Given the description of an element on the screen output the (x, y) to click on. 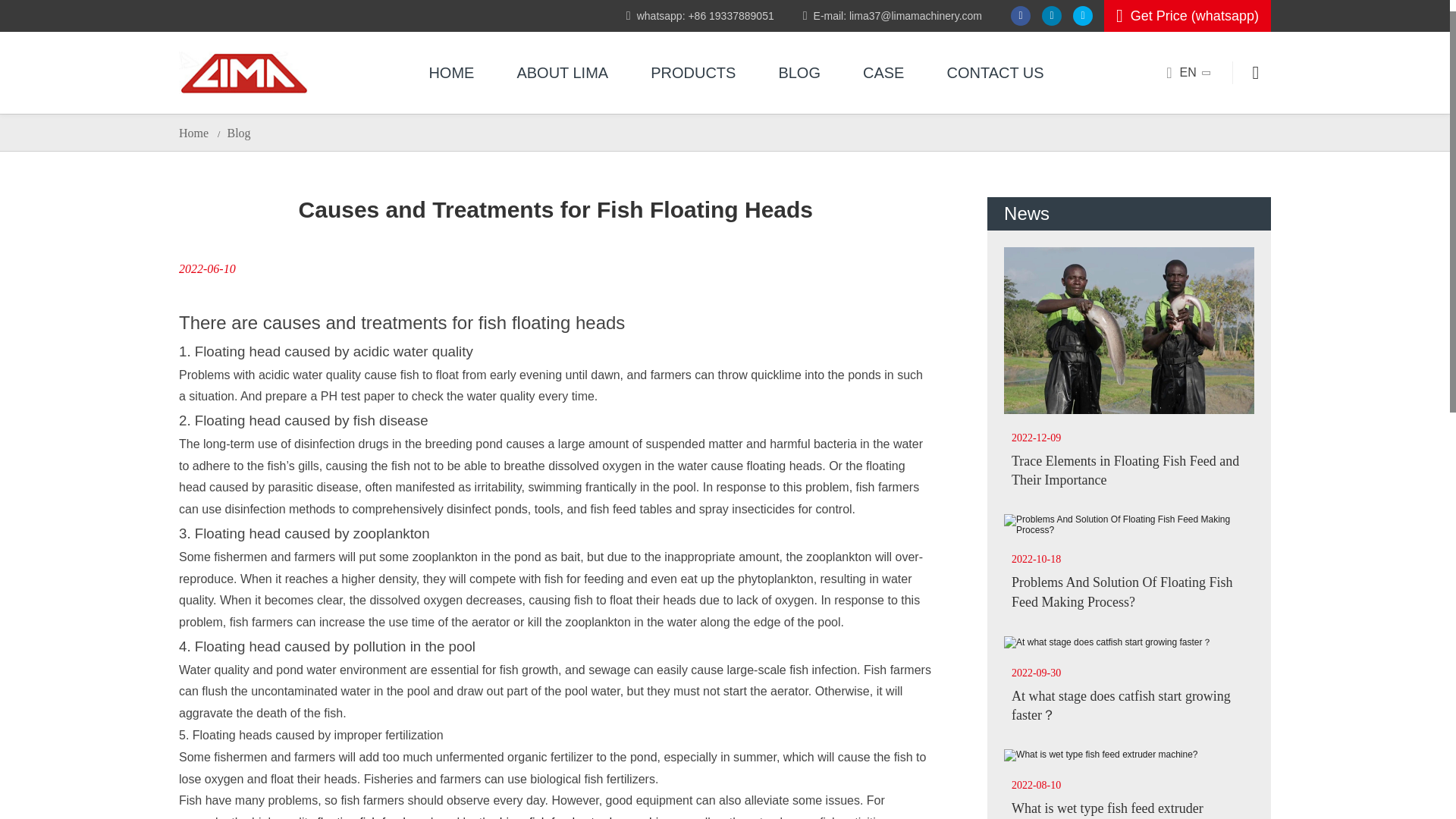
BLOG (799, 72)
floating fish feed making machine in Nigeria (243, 72)
CONTACT US (994, 72)
Home (193, 132)
Blog (238, 132)
HOME (451, 72)
Lima fish feed machines facebook (1020, 15)
Case (882, 72)
ABOUT LIMA (561, 72)
CASE (882, 72)
